Given the description of an element on the screen output the (x, y) to click on. 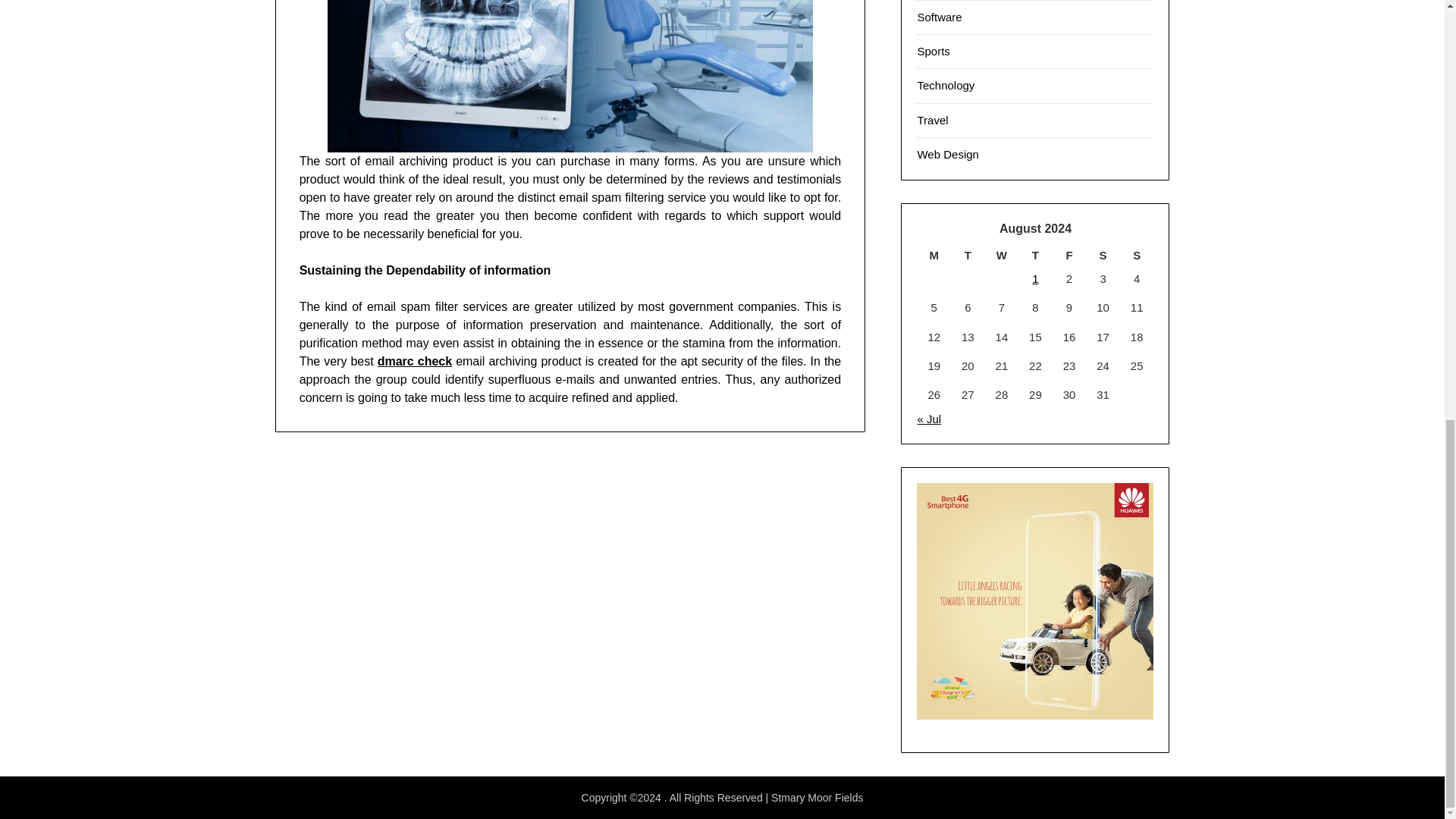
Software (938, 16)
Travel (932, 119)
Sports (933, 51)
dmarc check (414, 360)
Wednesday (1002, 254)
Monday (933, 254)
Tuesday (967, 254)
Thursday (1034, 254)
Technology (945, 84)
Sunday (1136, 254)
Friday (1069, 254)
Saturday (1102, 254)
Web Design (947, 154)
